Given the description of an element on the screen output the (x, y) to click on. 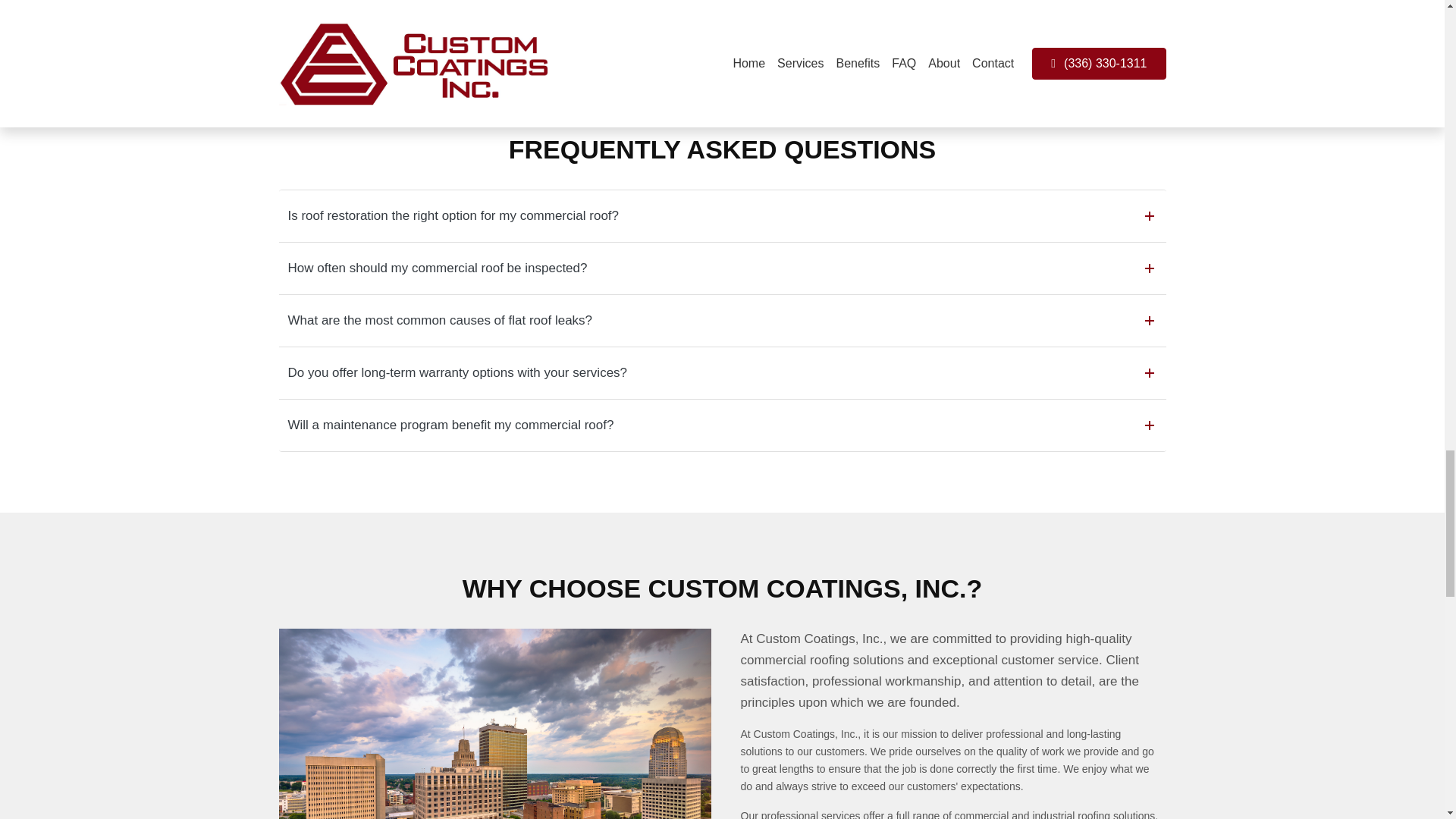
Do you offer long-term warranty options with your services? (727, 372)
Will a maintenance program benefit my commercial roof? (727, 425)
What are the most common causes of flat roof leaks? (727, 320)
How often should my commercial roof be inspected? (727, 268)
Is roof restoration the right option for my commercial roof? (727, 215)
